Given the description of an element on the screen output the (x, y) to click on. 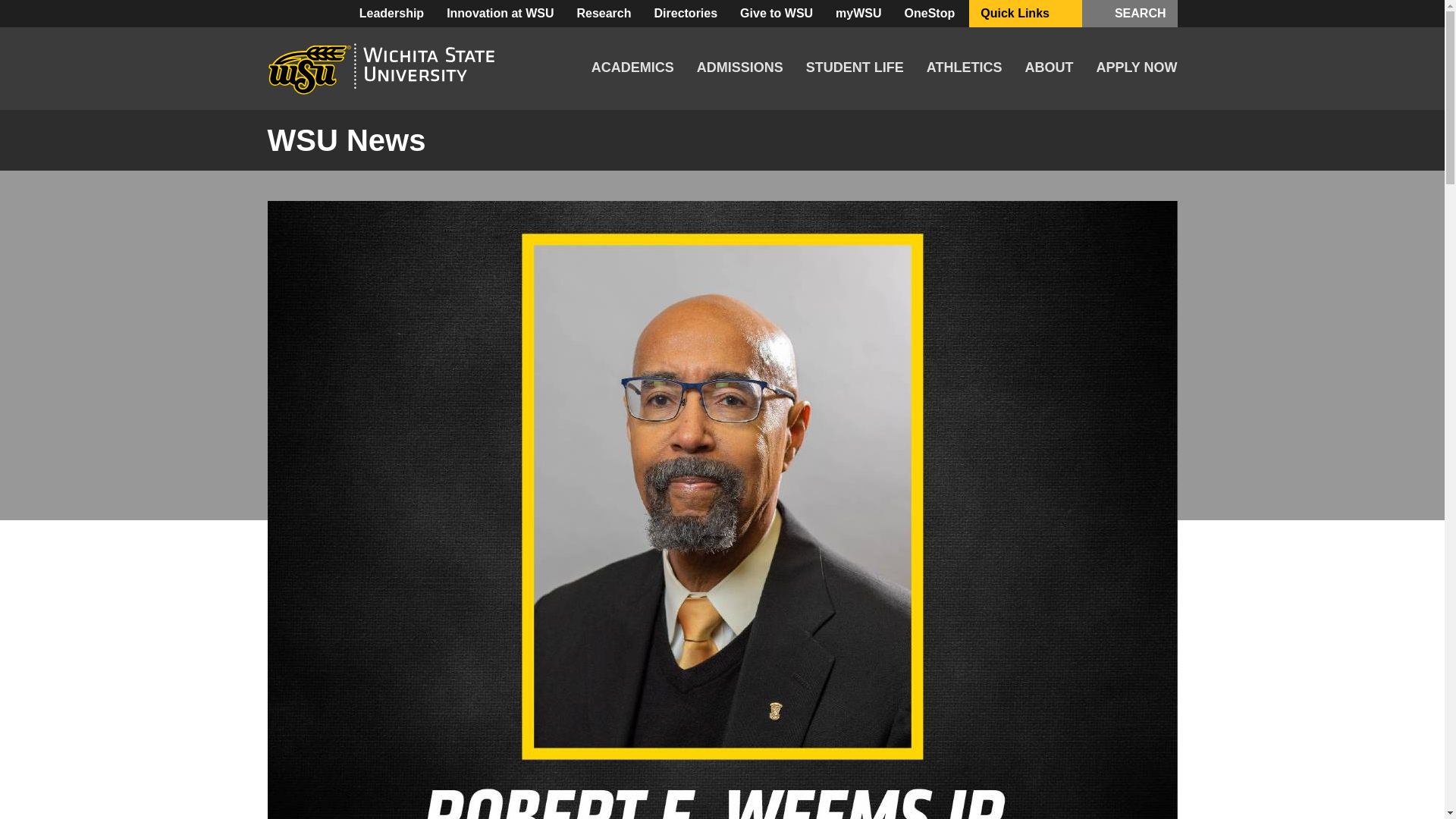
Research (603, 13)
myWSU (858, 13)
Open Search (1107, 13)
Quick Links (1025, 13)
OneStop (929, 13)
Innovation at WSU (499, 13)
Give to WSU (776, 13)
Open Quicklinks (1063, 13)
Directories (686, 13)
SEARCH (1129, 13)
Leadership (391, 13)
